Given the description of an element on the screen output the (x, y) to click on. 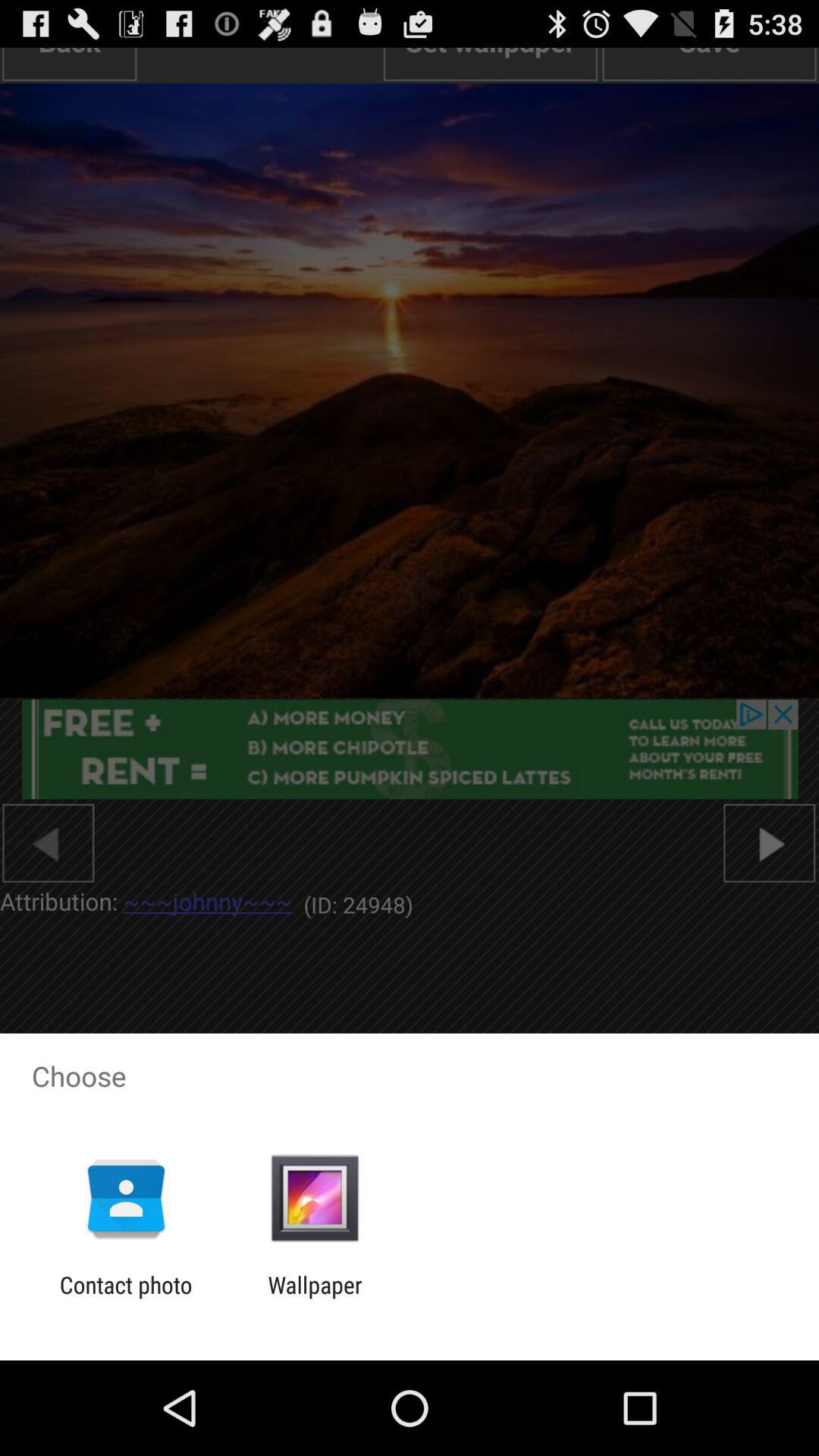
open the icon next to the contact photo item (314, 1298)
